Given the description of an element on the screen output the (x, y) to click on. 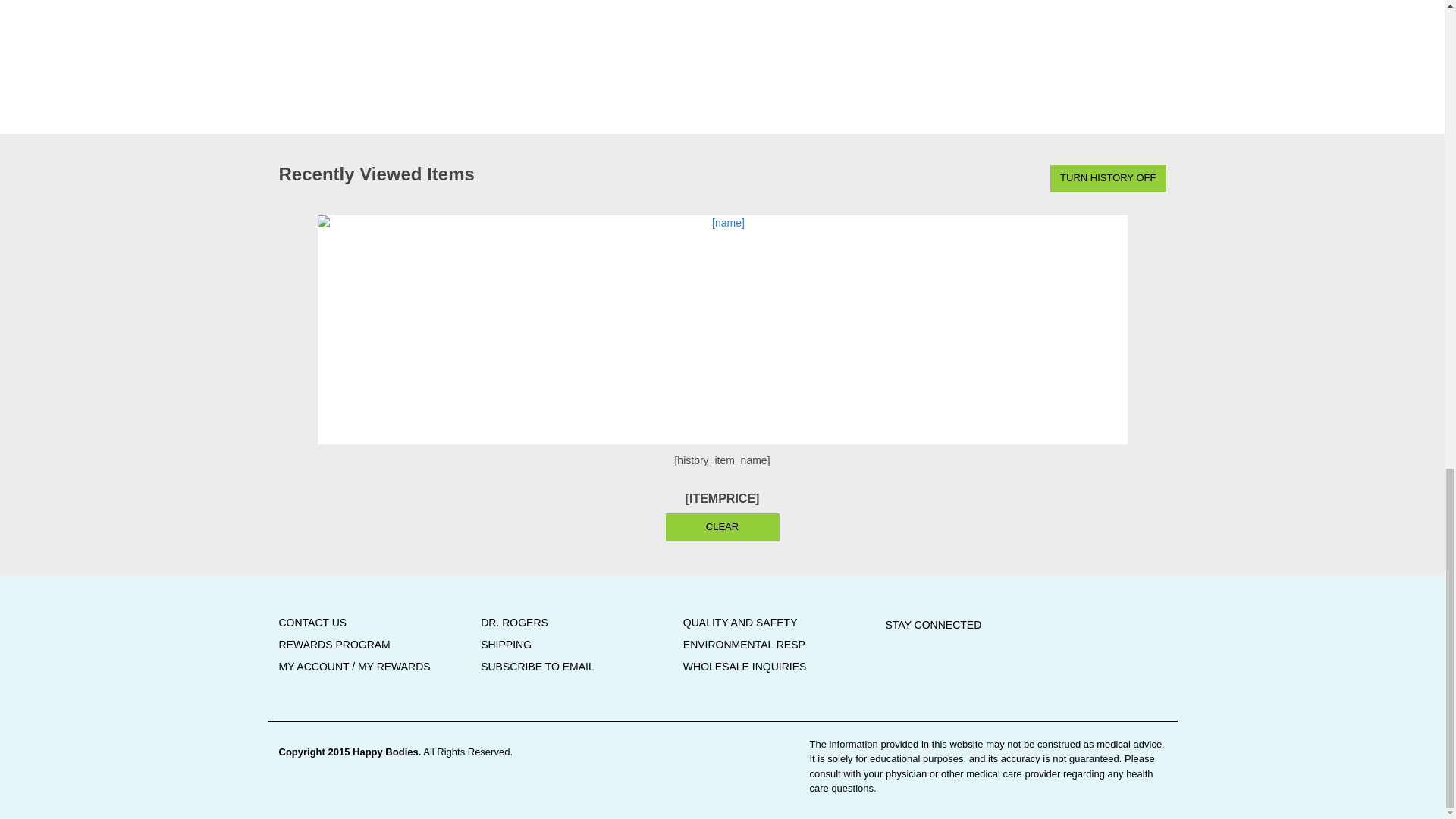
Like Us on Facebook (961, 645)
